Given the description of an element on the screen output the (x, y) to click on. 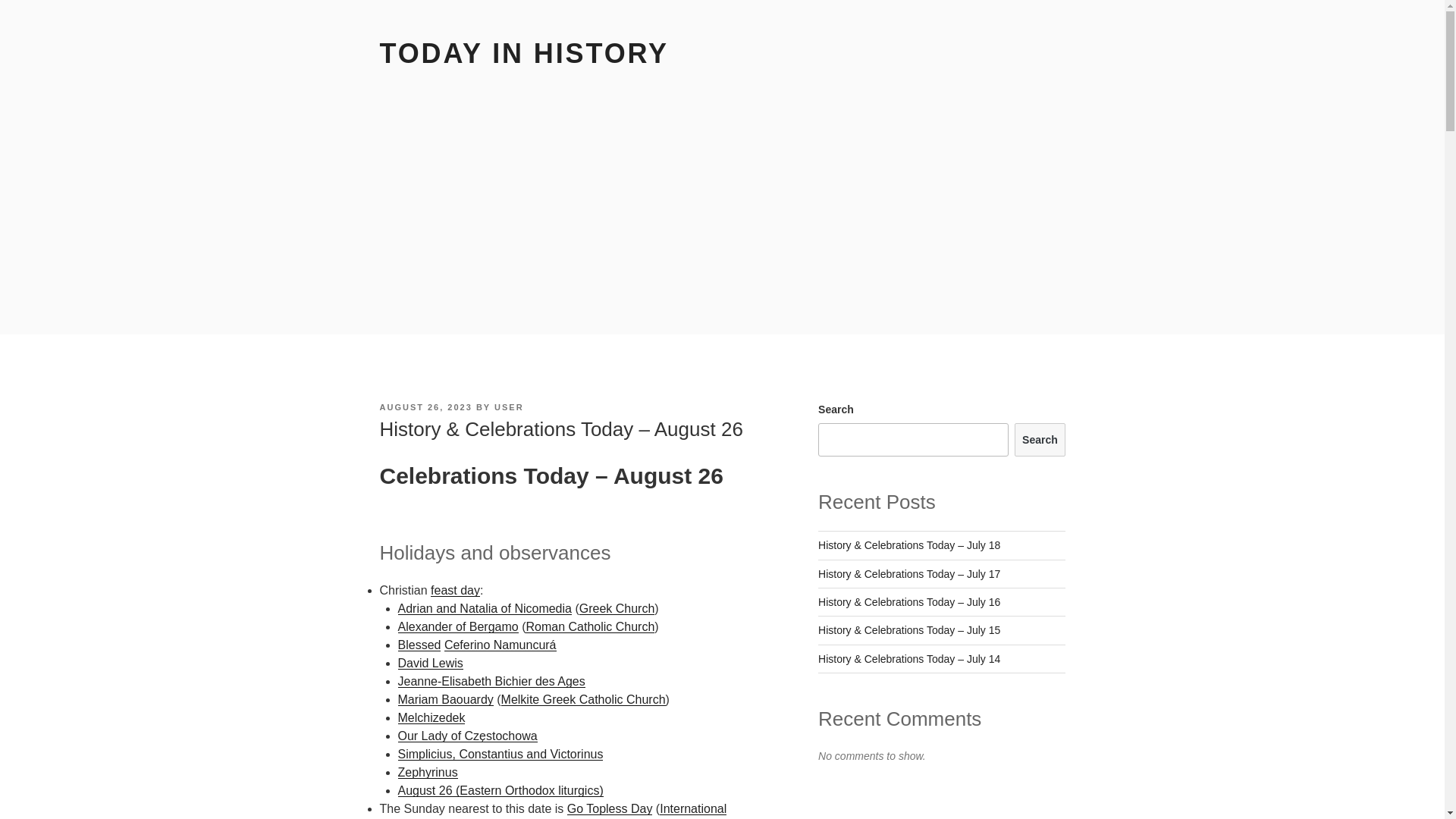
Alexander of Bergamo (457, 626)
Greek Church (617, 608)
TODAY IN HISTORY (523, 52)
David Lewis (430, 662)
AUGUST 26, 2023 (424, 406)
Zephyrinus (427, 771)
Melkite Greek Catholic Church (582, 698)
Greek Church (617, 608)
Mariam Baouardy (445, 698)
Pope Zephyrinus (427, 771)
Mariam Baouardy (445, 698)
Melchizedek (430, 717)
Jeanne-Elisabeth Bichier des Ages (491, 680)
Go Topless Day (609, 808)
Alexander of Bergamo (457, 626)
